Given the description of an element on the screen output the (x, y) to click on. 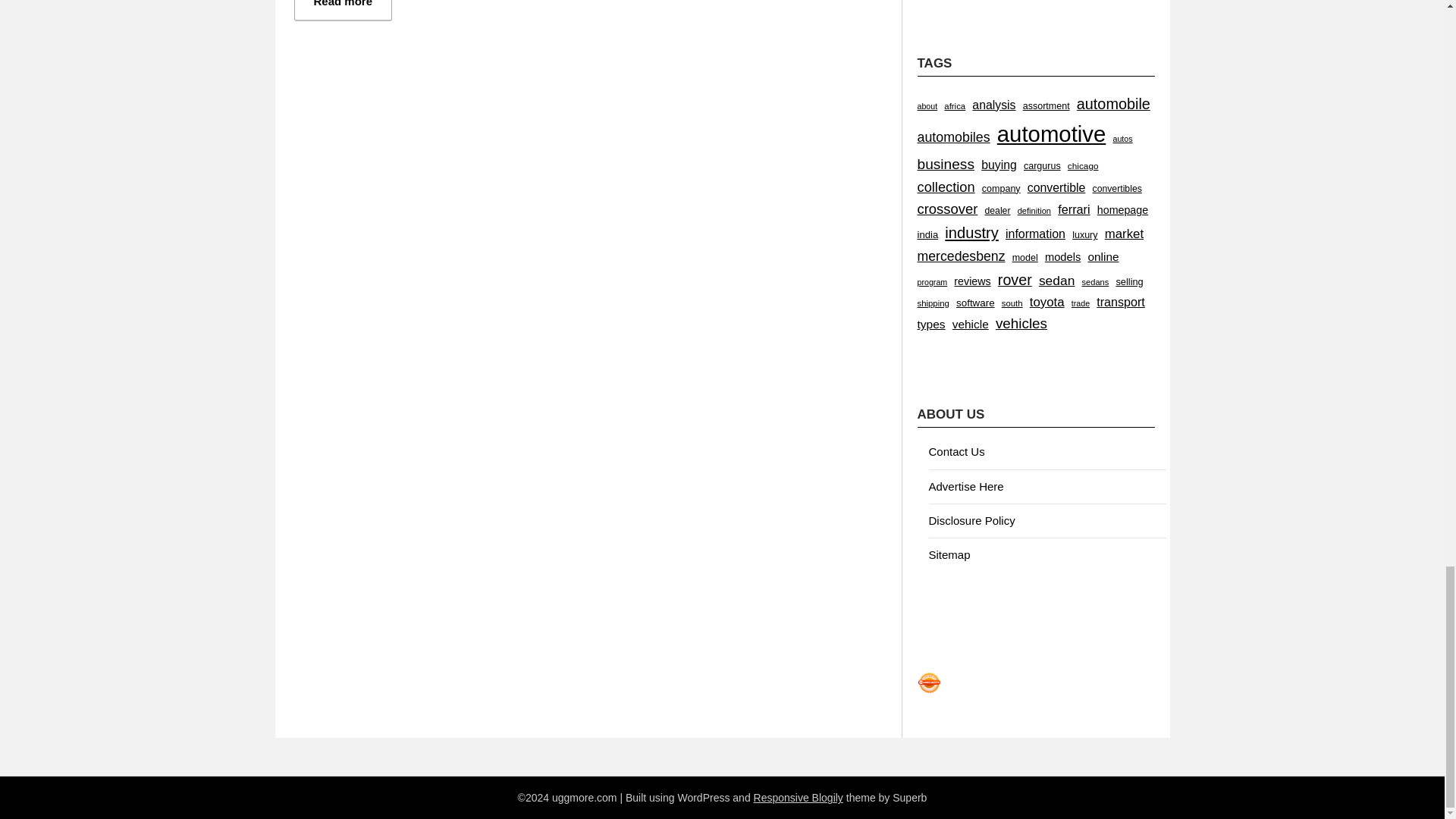
Seedbacklink (928, 682)
Read more (343, 10)
